Given the description of an element on the screen output the (x, y) to click on. 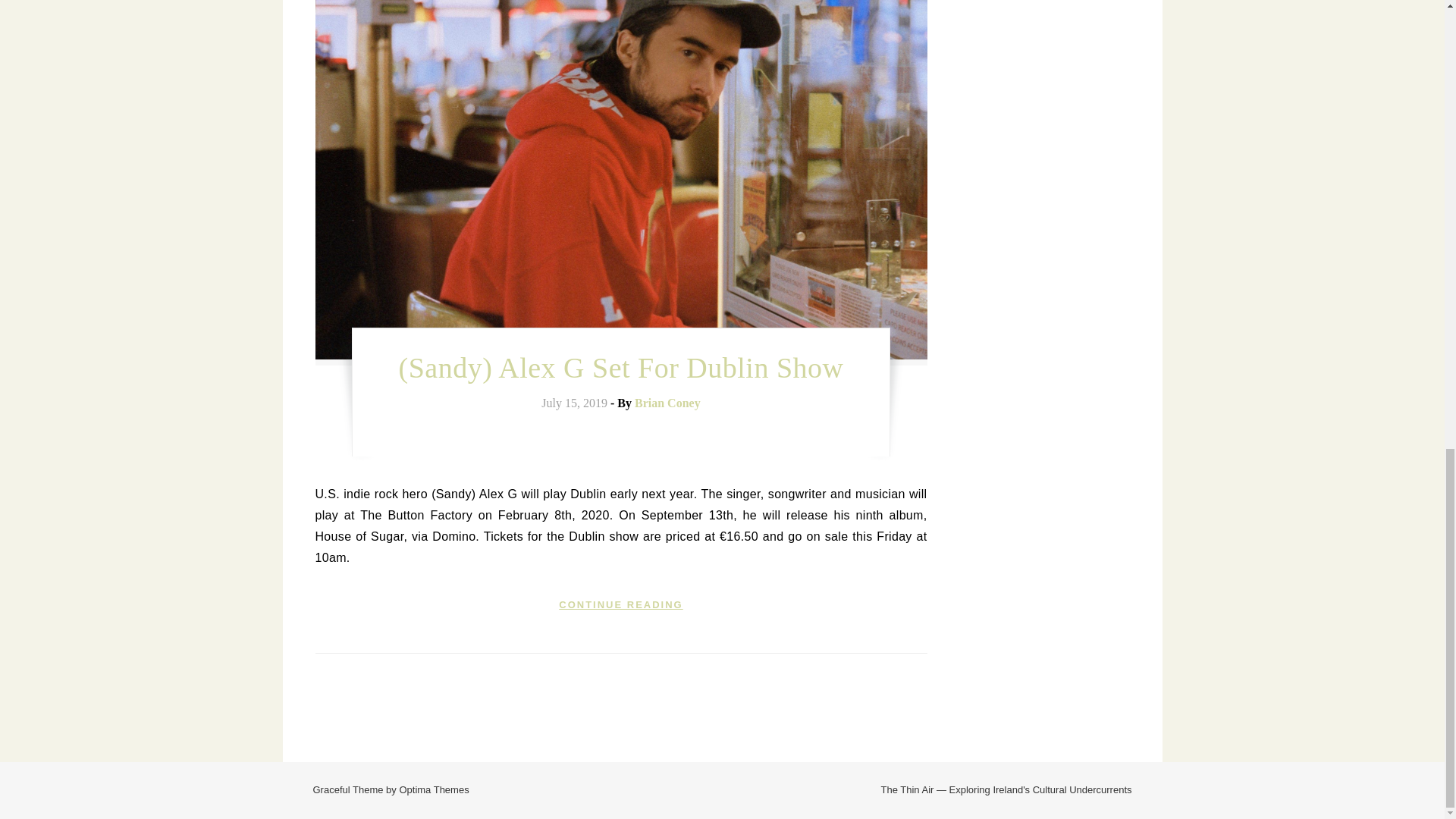
Posts by Brian Coney (667, 402)
